Given the description of an element on the screen output the (x, y) to click on. 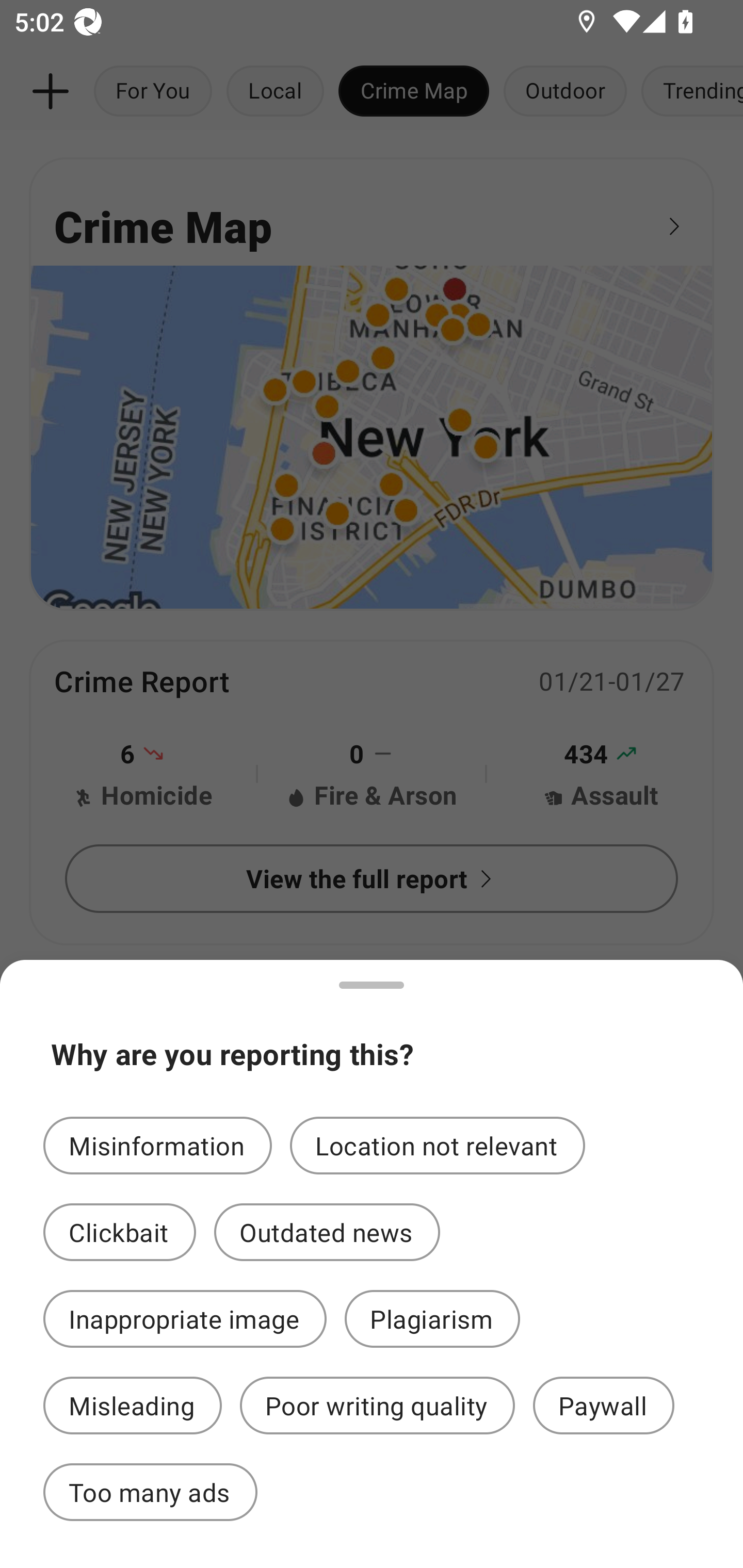
Misinformation (157, 1145)
Location not relevant (437, 1145)
Clickbait (119, 1231)
Outdated news (326, 1231)
Inappropriate image (184, 1319)
Plagiarism (432, 1319)
Misleading (132, 1405)
Poor writing quality (376, 1405)
Paywall (603, 1405)
Too many ads (150, 1491)
